Given the description of an element on the screen output the (x, y) to click on. 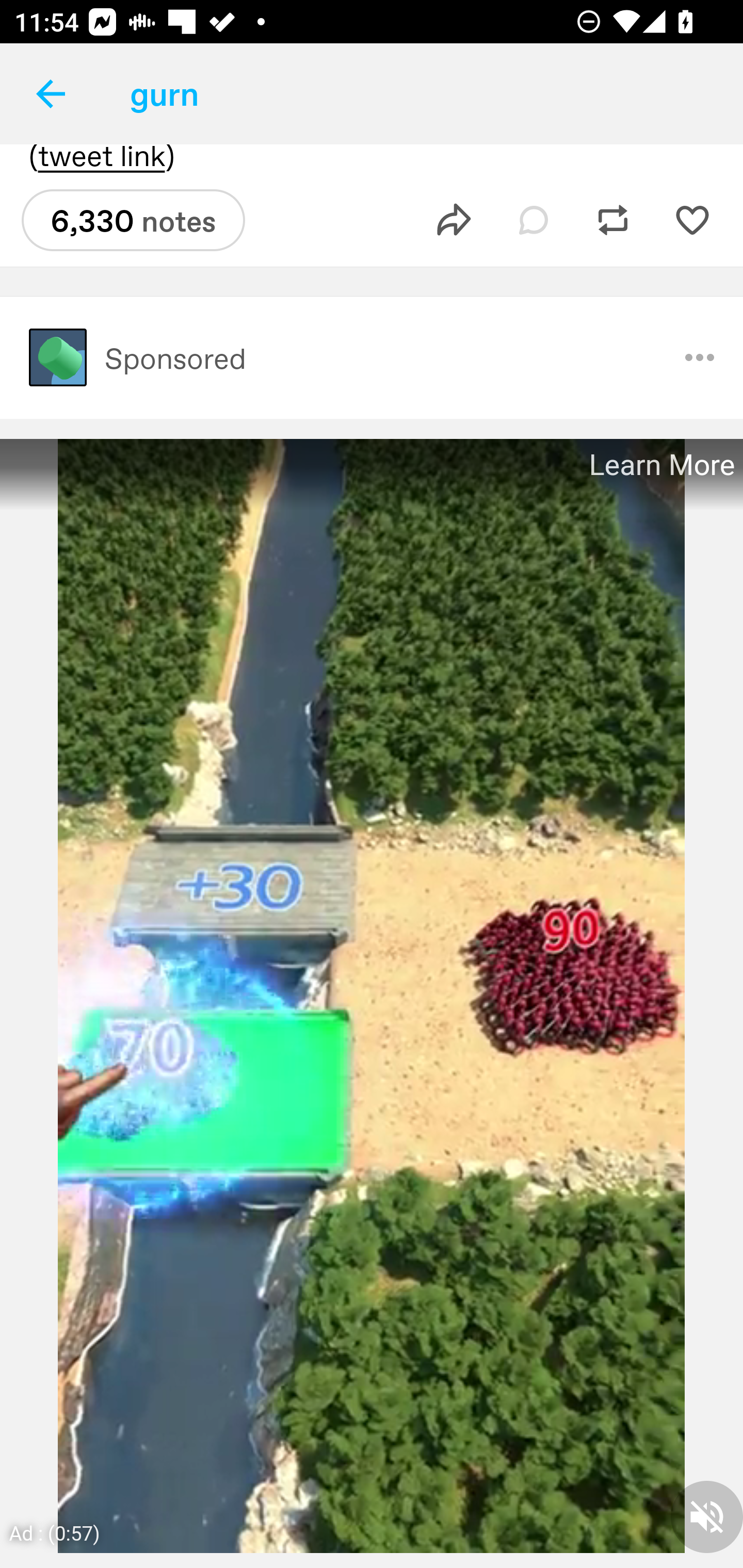
Navigate up (50, 93)
Share post to message (454, 220)
Reblog (612, 220)
Like (691, 220)
6,330 notes (133, 219)
Why do I see this ad? (699, 357)
Learn More (660, 464)
Unmute (706, 1516)
Ad : (0:57) (54, 1532)
